Given the description of an element on the screen output the (x, y) to click on. 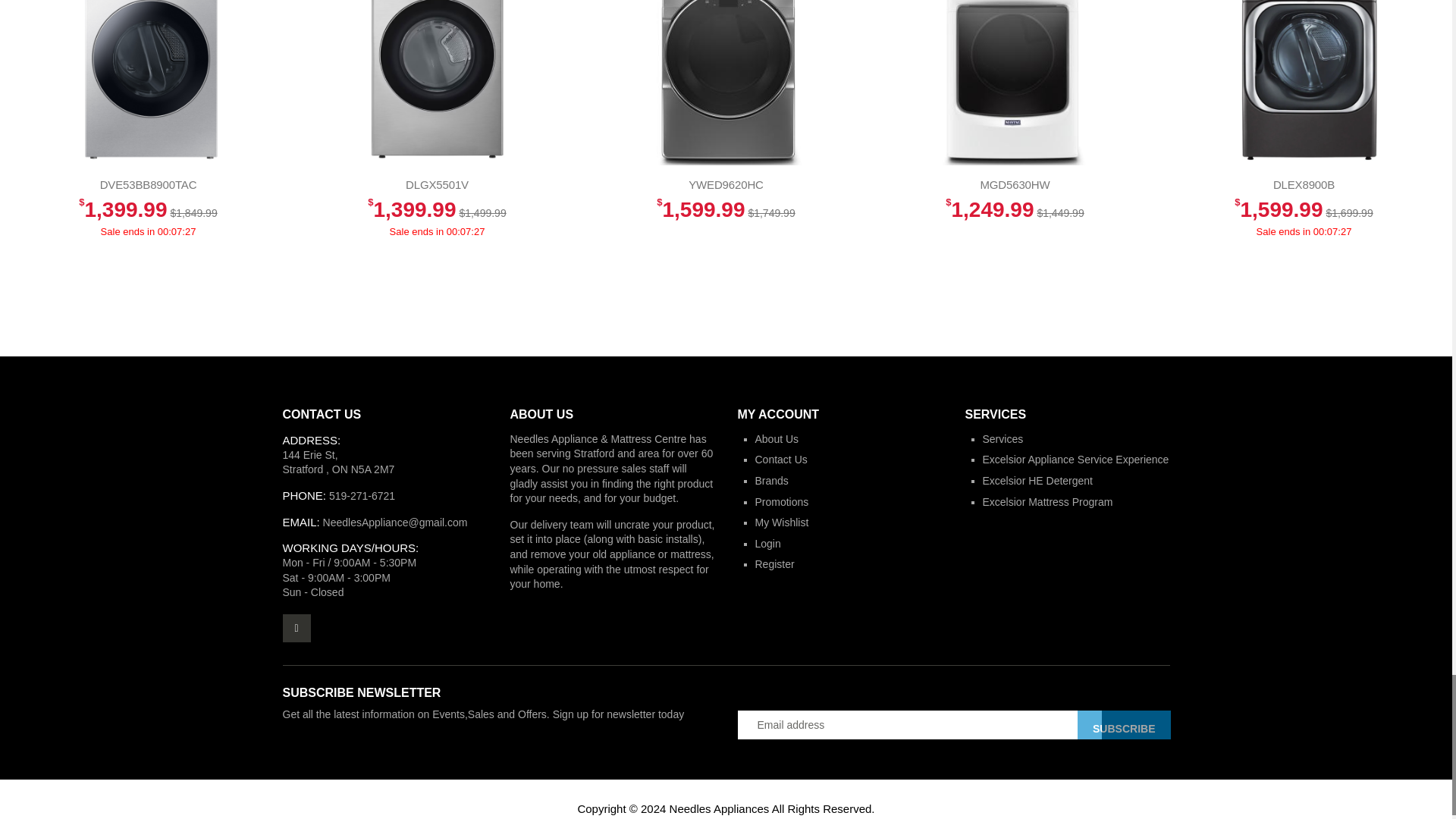
Subscribe (1123, 724)
